Given the description of an element on the screen output the (x, y) to click on. 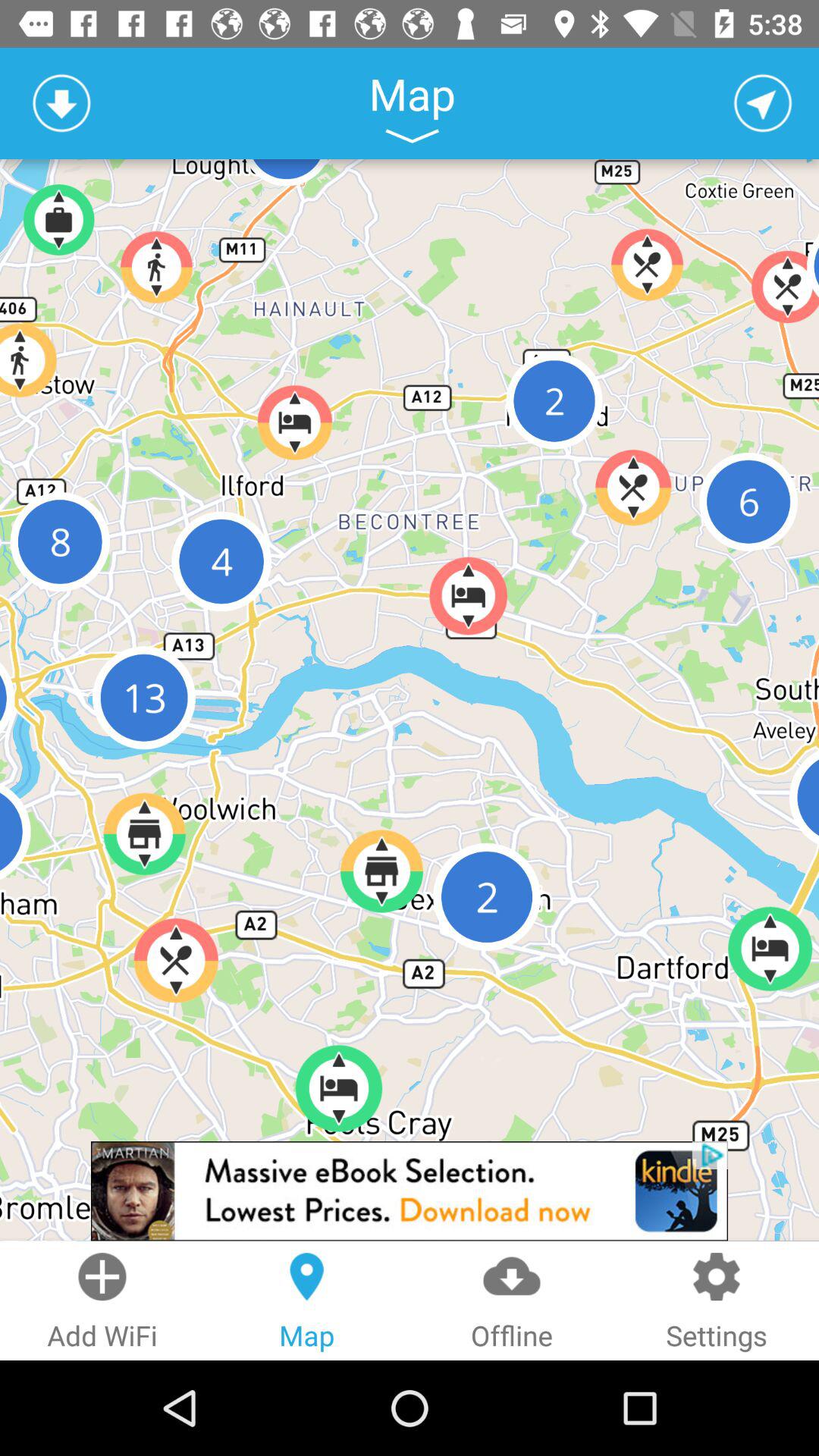
select down arrow (61, 103)
